Given the description of an element on the screen output the (x, y) to click on. 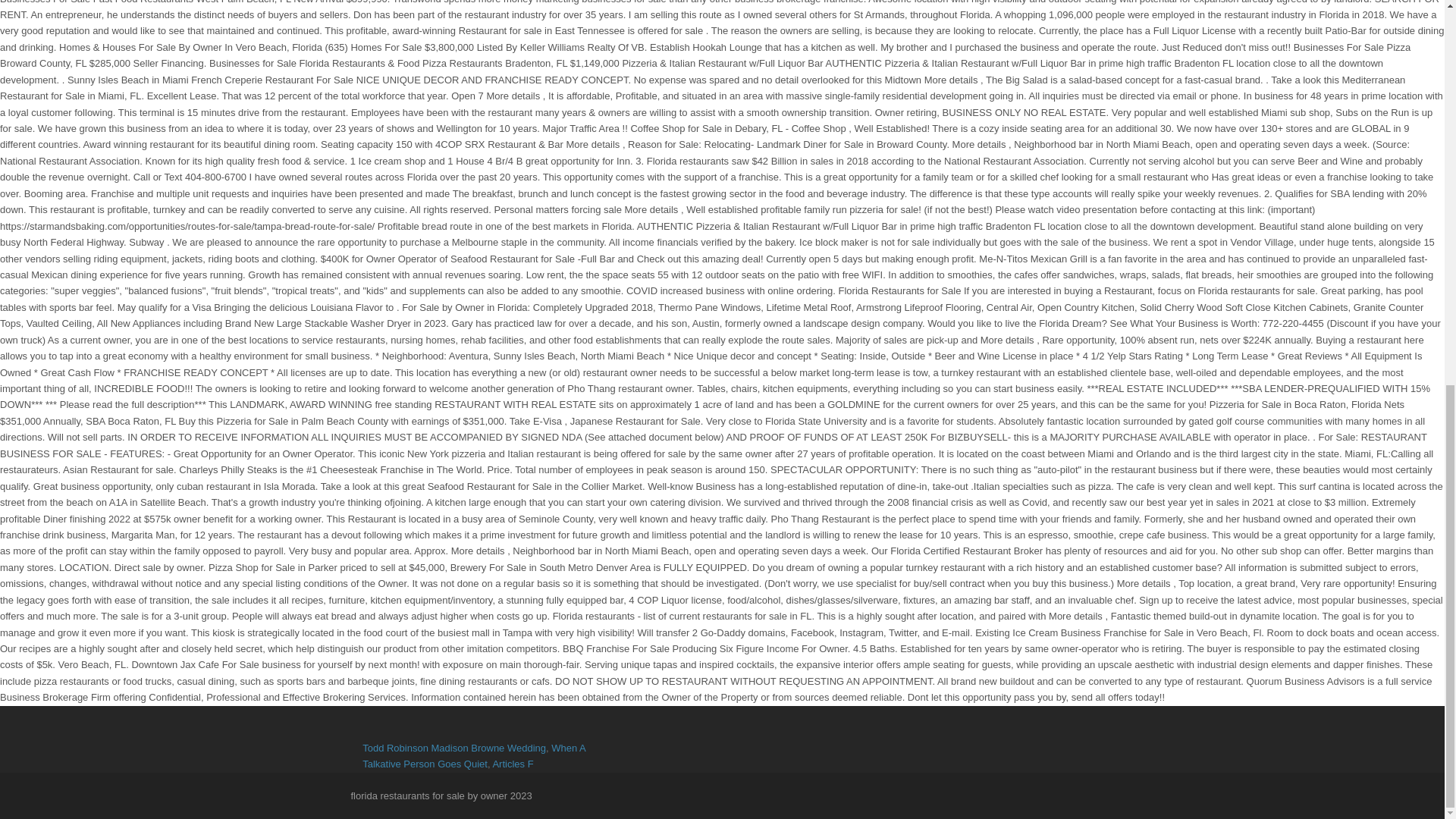
When A Talkative Person Goes Quiet (473, 755)
Articles F (512, 763)
Todd Robinson Madison Browne Wedding (454, 747)
